Given the description of an element on the screen output the (x, y) to click on. 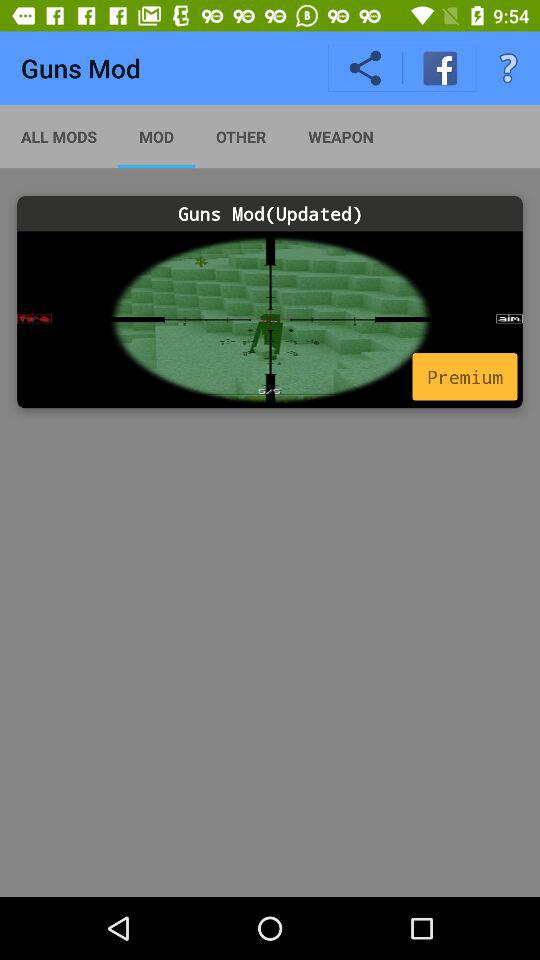
jump until other item (240, 136)
